Given the description of an element on the screen output the (x, y) to click on. 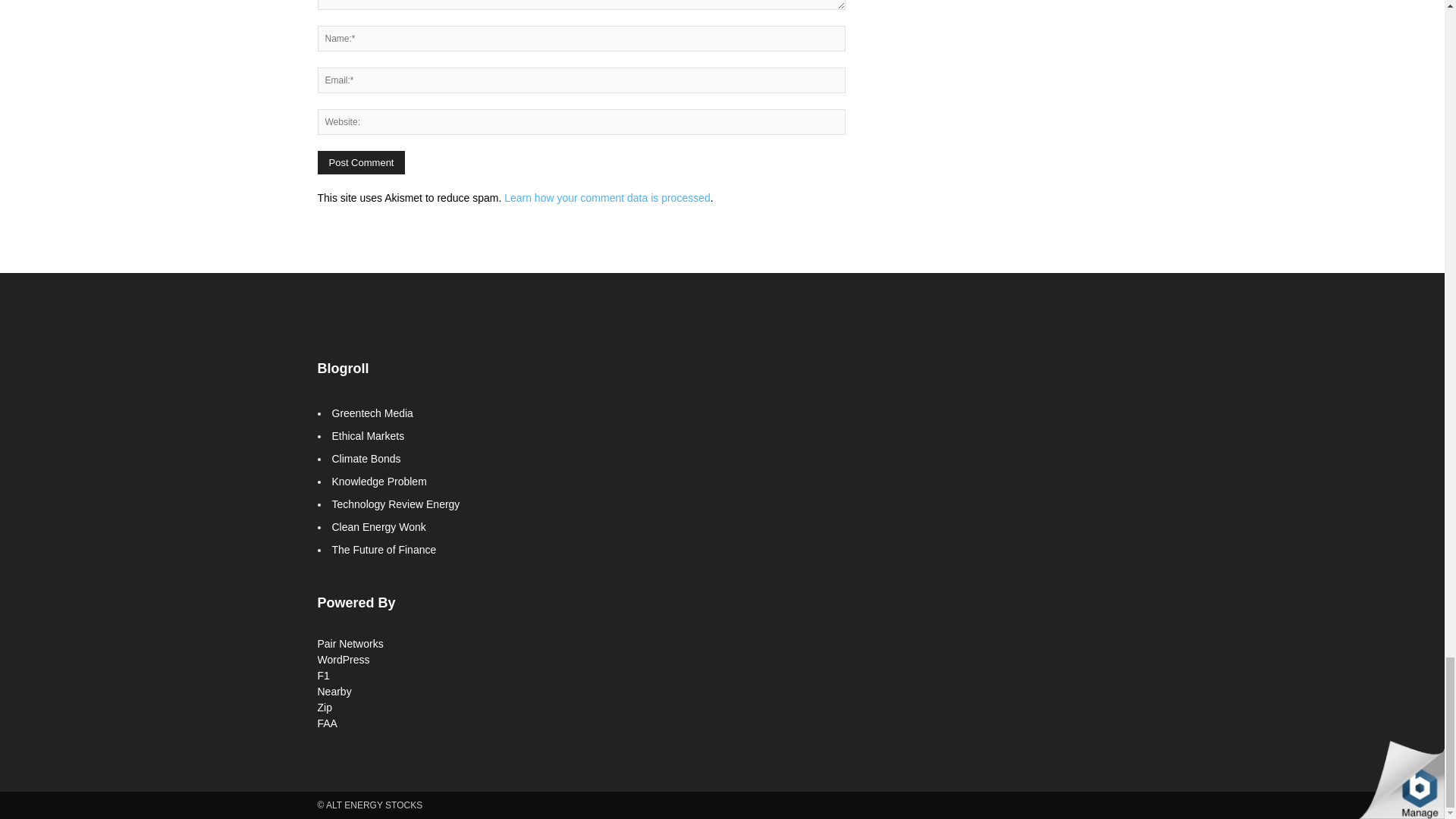
Post Comment (360, 162)
